Given the description of an element on the screen output the (x, y) to click on. 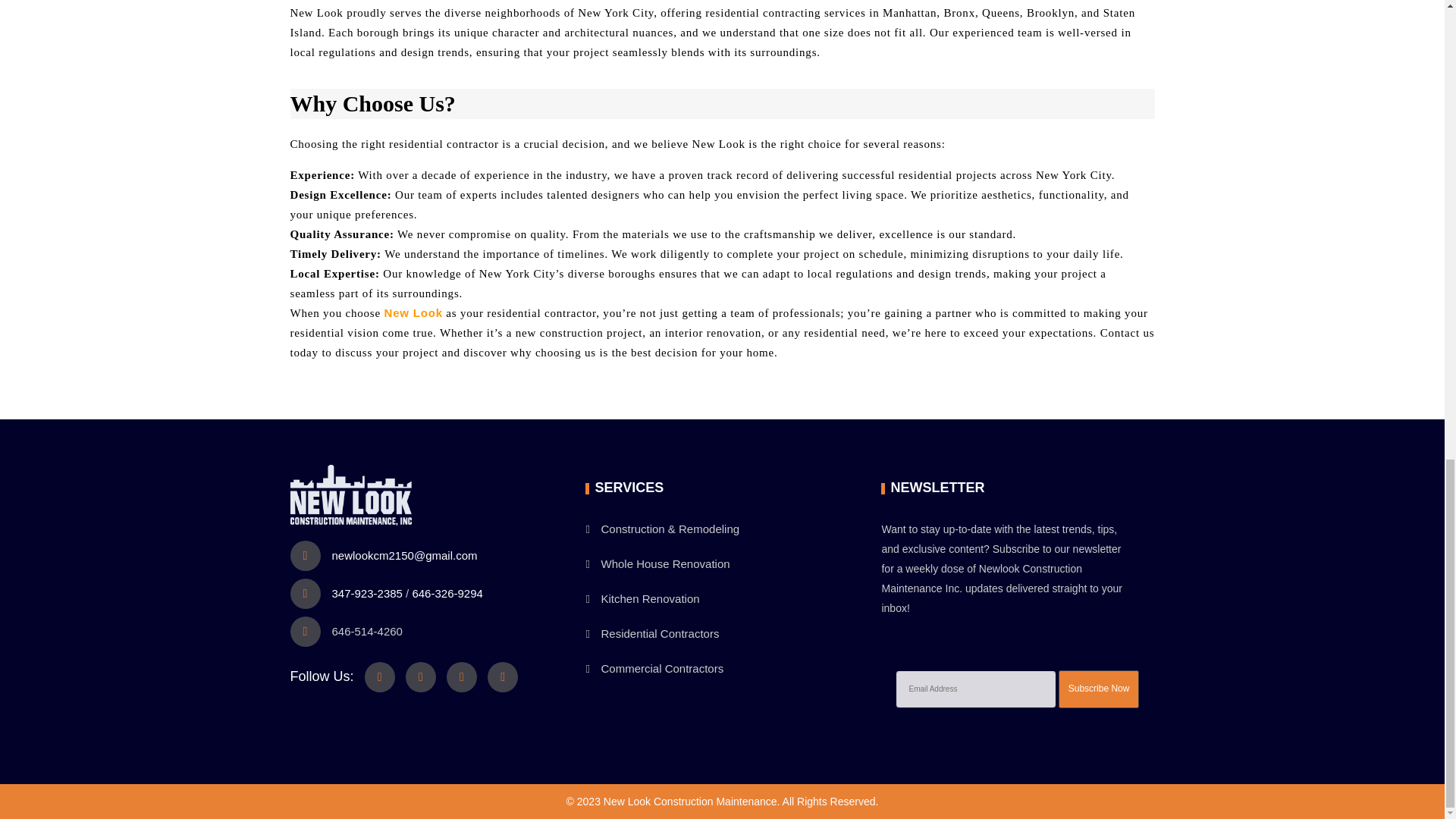
Subscribe Now (1099, 689)
347-923-2385 (367, 593)
New Look (413, 312)
646-326-9294 (446, 593)
